Given the description of an element on the screen output the (x, y) to click on. 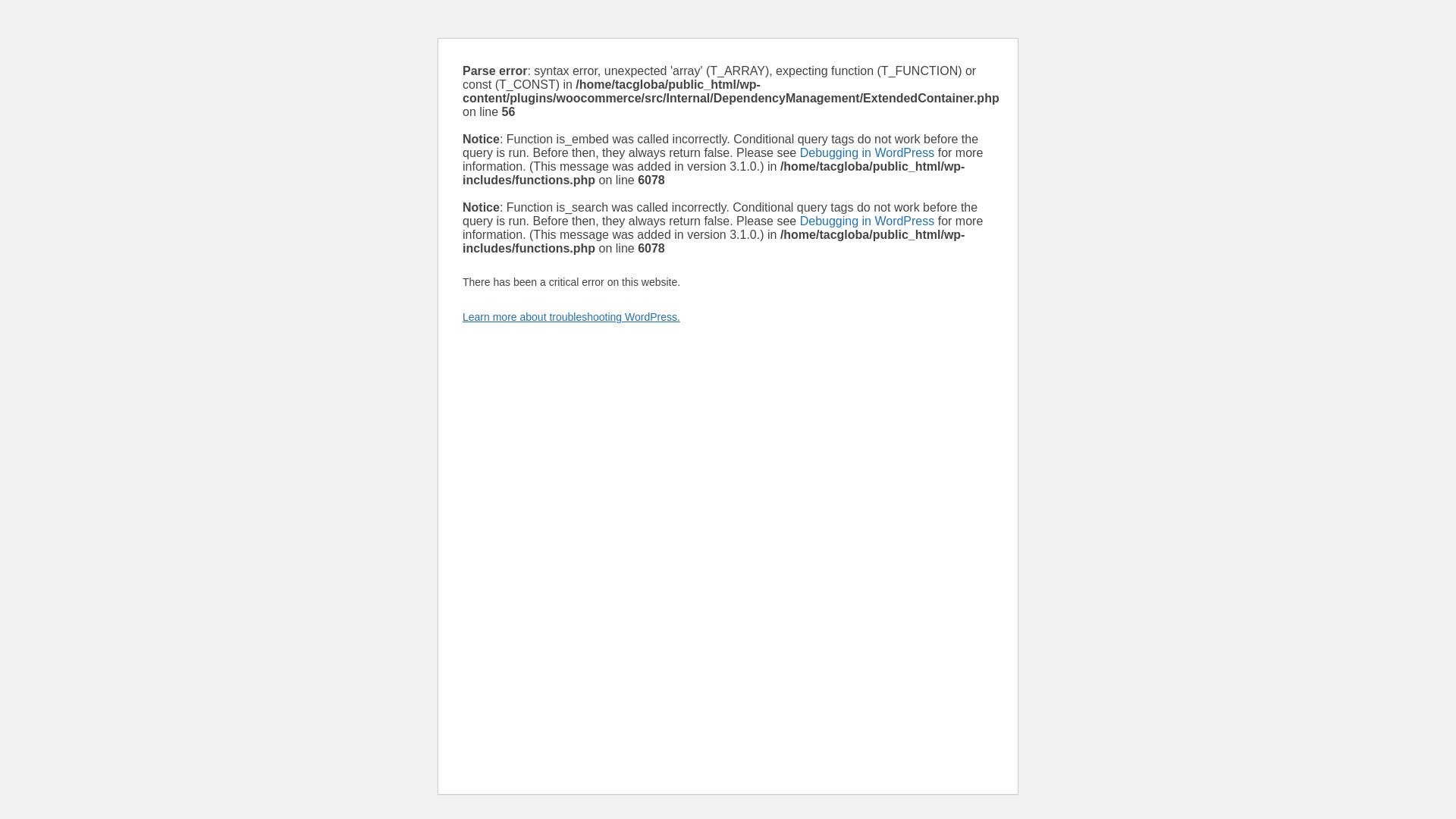
Debugging in WordPress (866, 152)
Learn more about troubleshooting WordPress. (571, 316)
Debugging in WordPress (866, 220)
